Given the description of an element on the screen output the (x, y) to click on. 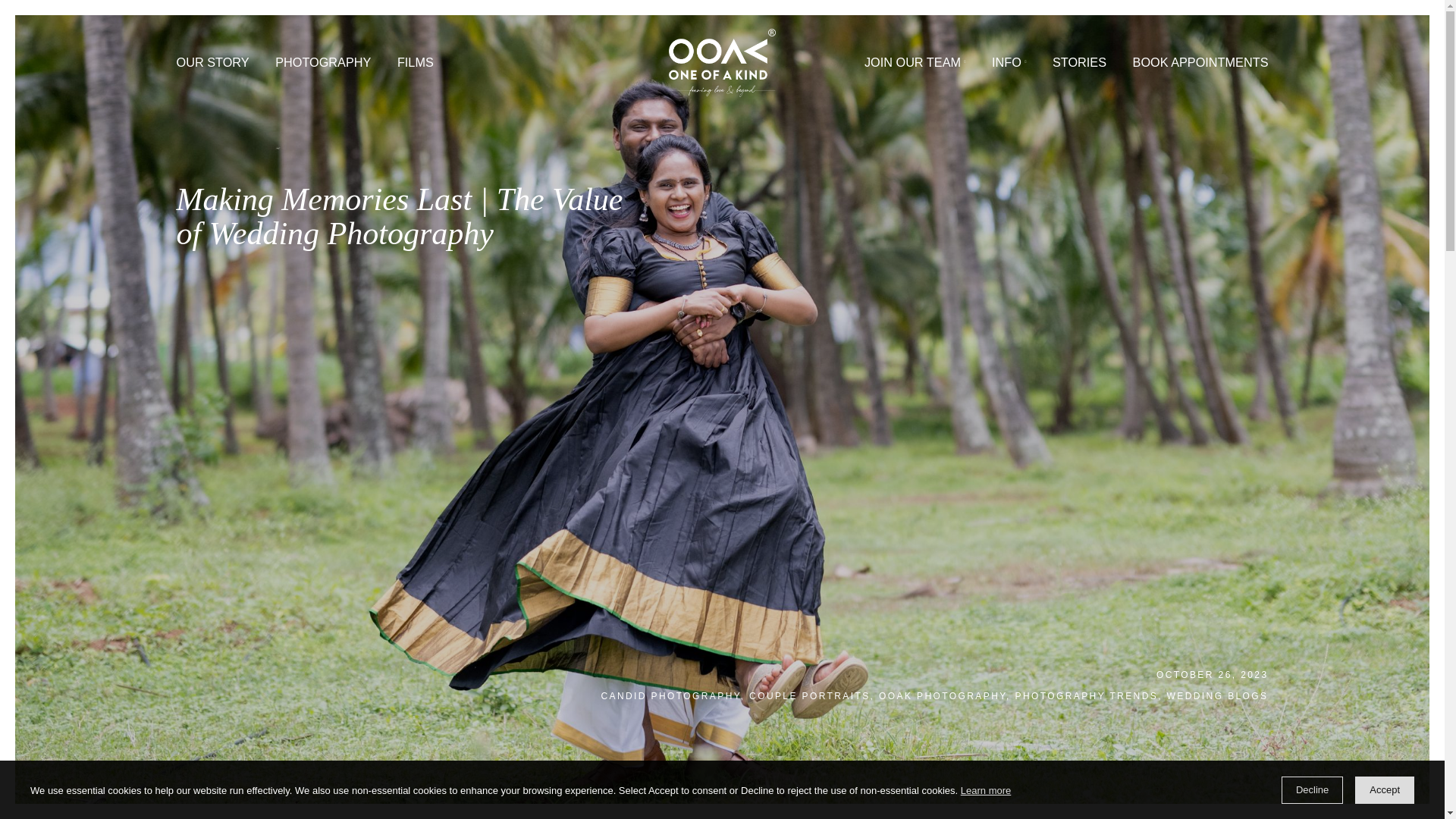
FILMS (461, 69)
Decline (1311, 789)
STORIES (1198, 69)
JOIN OUR TEAM (1015, 69)
BOOK APPOINTMENTS (1333, 69)
INFO (1120, 69)
OUR STORY (235, 69)
Learn more (985, 791)
PHOTOGRAPHY (358, 69)
Accept (1384, 789)
